Given the description of an element on the screen output the (x, y) to click on. 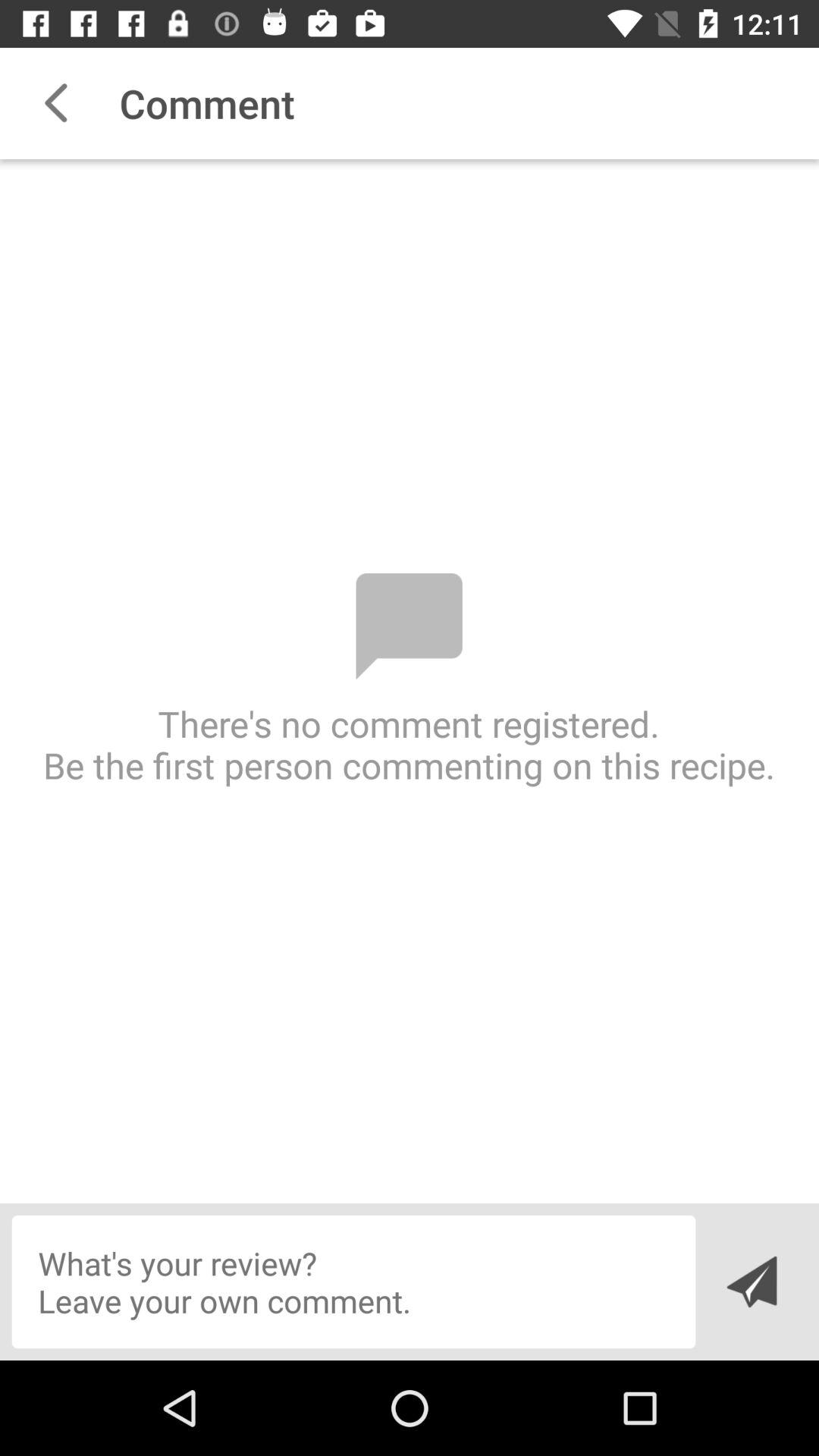
launch icon below there s no icon (751, 1281)
